Given the description of an element on the screen output the (x, y) to click on. 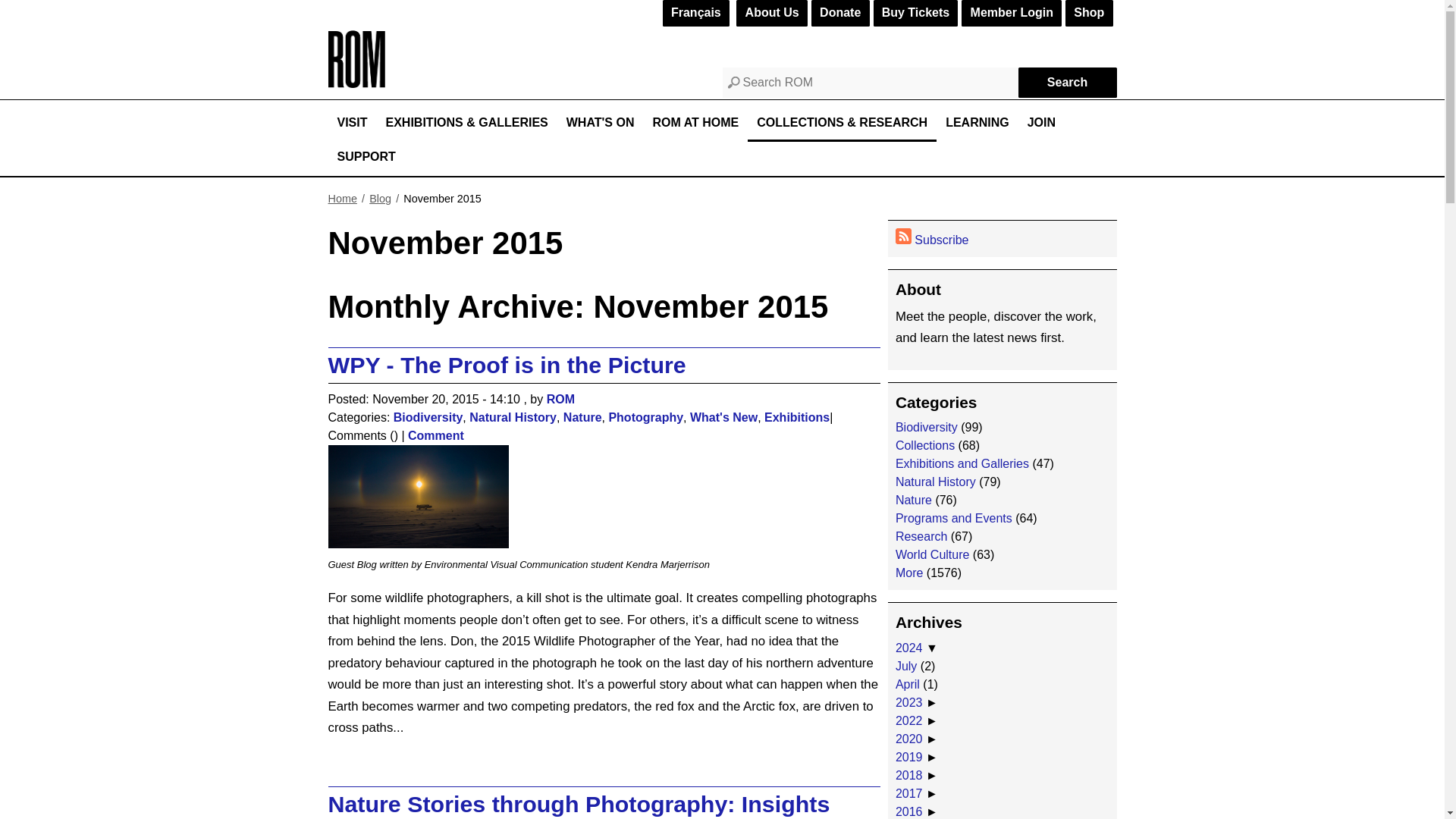
Search (1066, 82)
Home page (355, 83)
About Us (771, 13)
WHAT'S ON (600, 124)
VISIT (351, 124)
Blog RSS Feed (903, 236)
Shop (1088, 13)
Member Login (1010, 13)
Buy Tickets (915, 13)
Donate (839, 13)
Search (1066, 82)
